Given the description of an element on the screen output the (x, y) to click on. 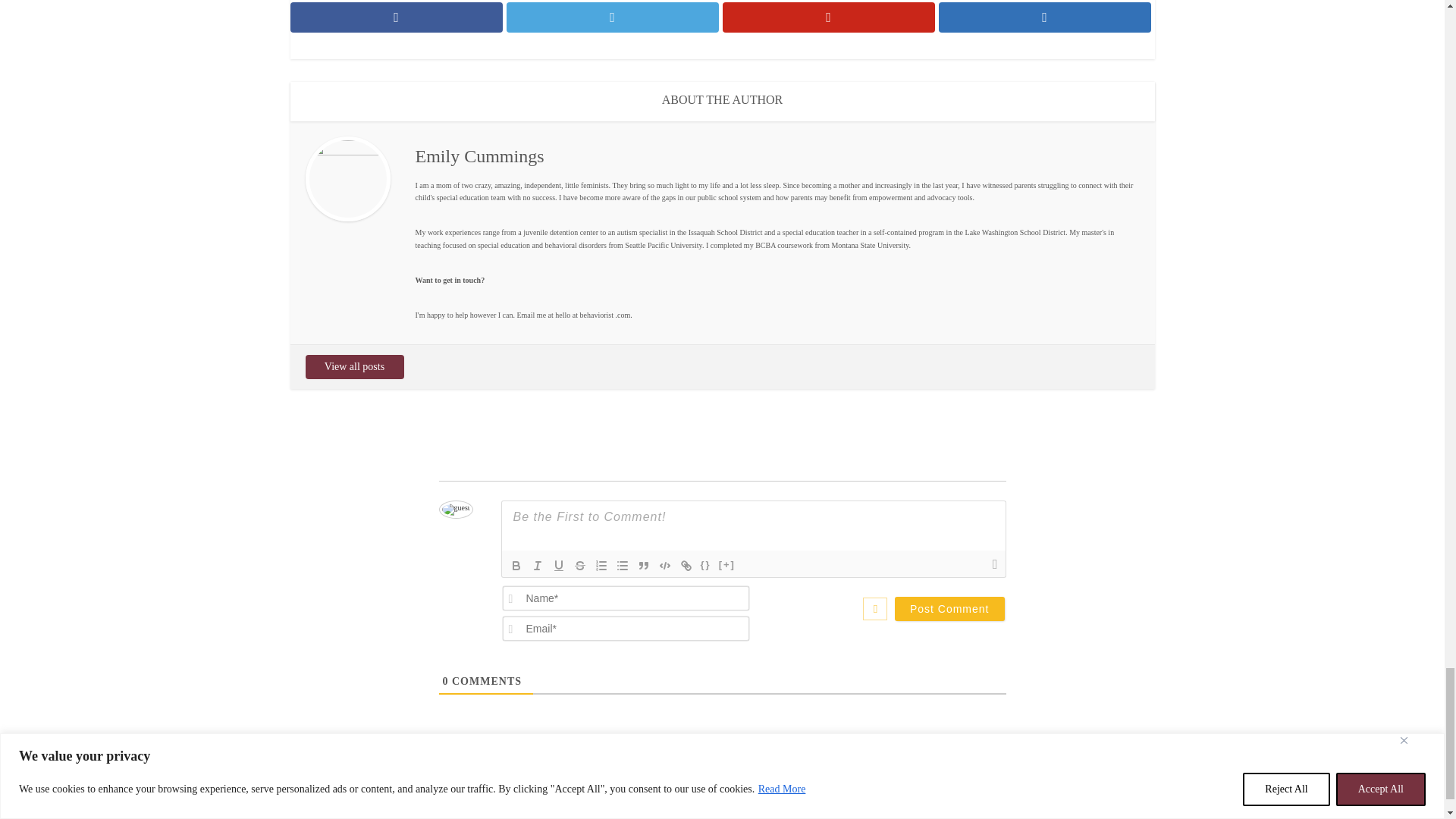
Blockquote (642, 565)
Source Code (704, 565)
Ordered List (600, 565)
Bold (515, 565)
Code Block (664, 565)
Italic (536, 565)
Post Comment (949, 608)
Link (685, 565)
Unordered List (621, 565)
Spoiler (726, 565)
Strike (579, 565)
Underline (558, 565)
